Given the description of an element on the screen output the (x, y) to click on. 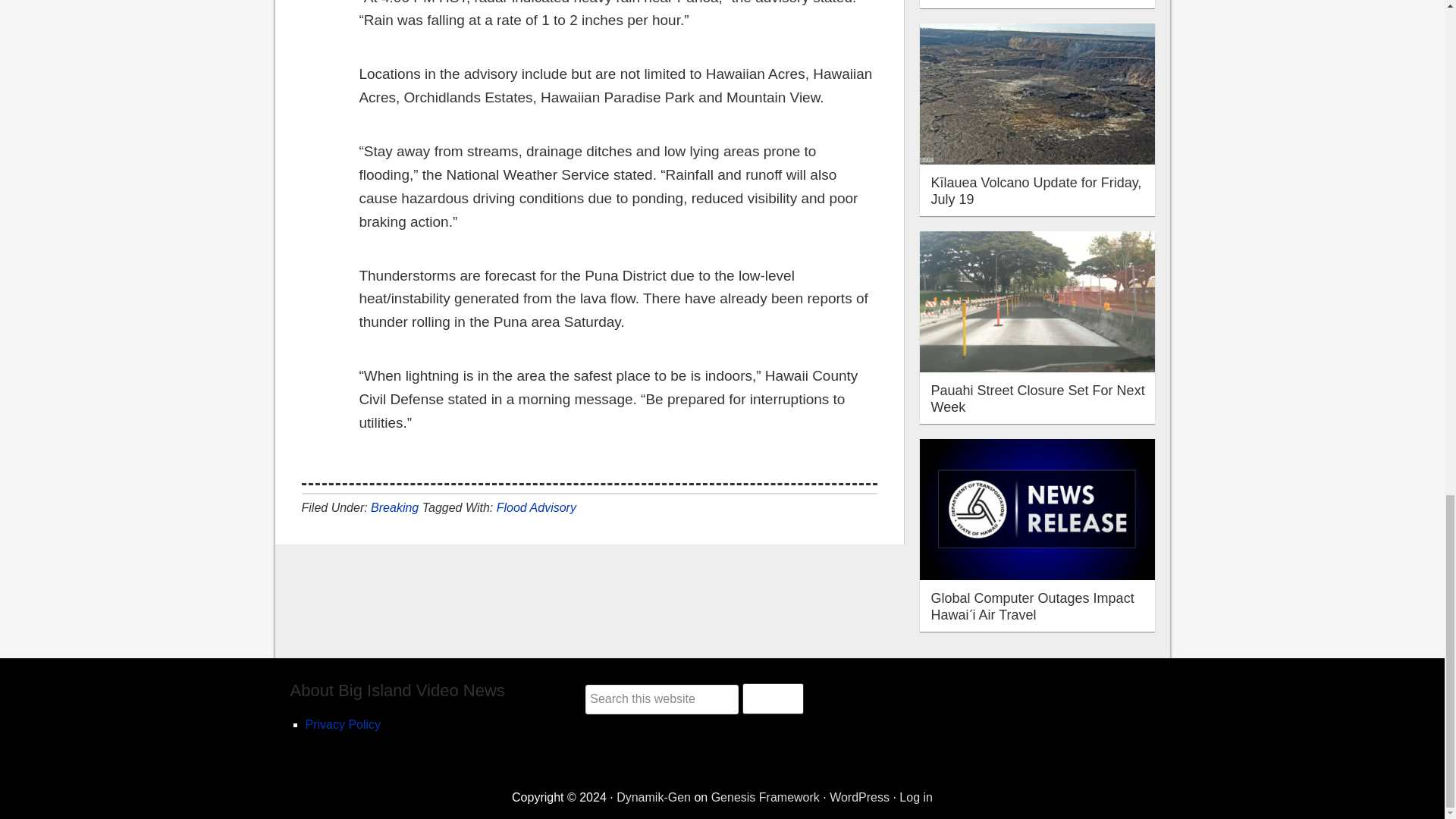
Log in (916, 797)
Dynamik-Gen (652, 797)
Search (772, 698)
WordPress (859, 797)
Flood Advisory (536, 507)
Pauahi Street Closure Set For Next Week (1037, 399)
Breaking (395, 507)
Search (772, 698)
Privacy Policy for Big Island Video News (342, 724)
Genesis Framework (765, 797)
Search (772, 698)
Privacy Policy (342, 724)
